Given the description of an element on the screen output the (x, y) to click on. 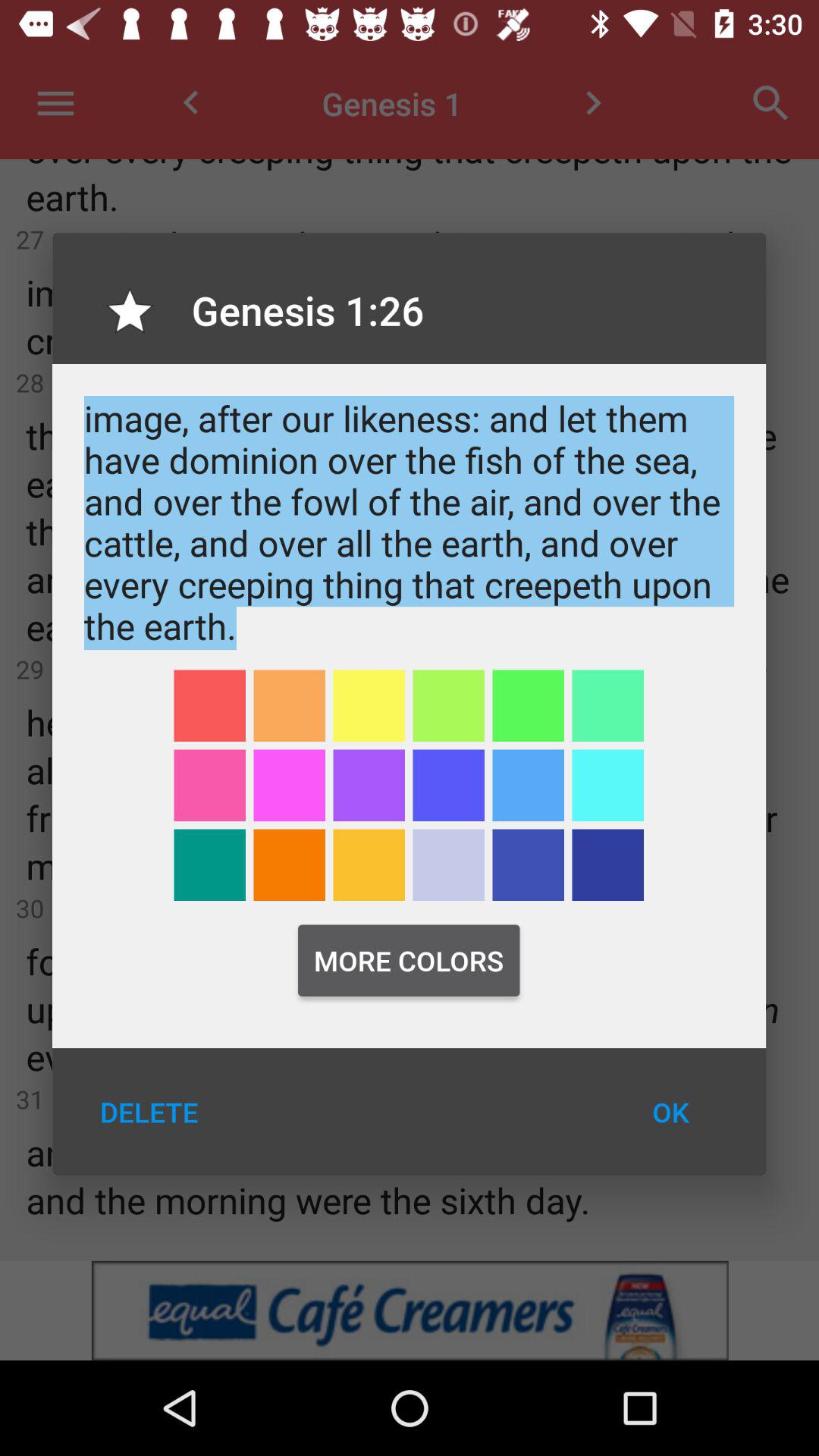
tap the delete icon (149, 1111)
